Given the description of an element on the screen output the (x, y) to click on. 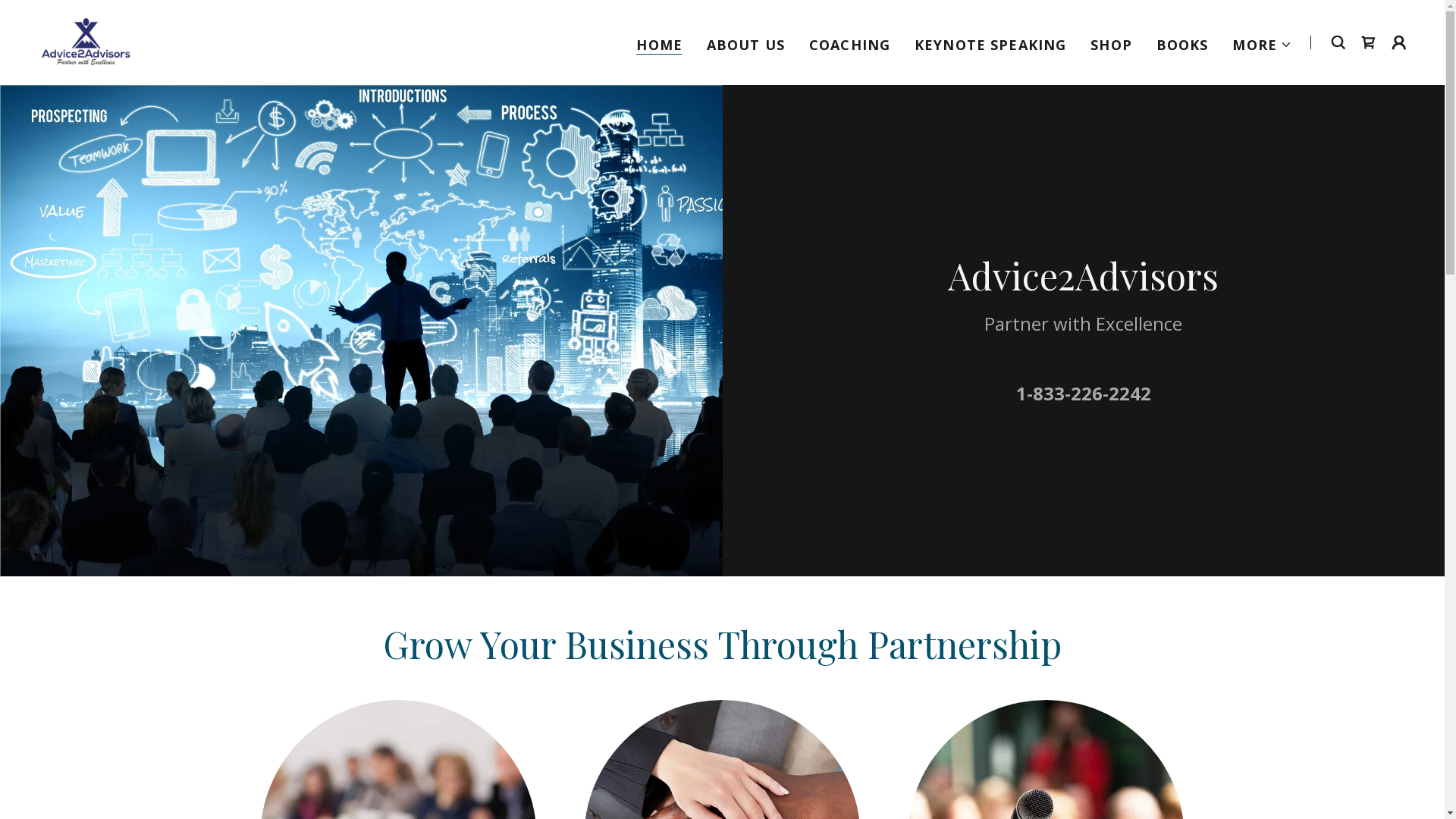
KEYNOTE SPEAKING Element type: text (990, 43)
COACHING Element type: text (849, 43)
HOME Element type: text (659, 43)
ABOUT US Element type: text (745, 43)
Advice2Advisors Element type: hover (85, 40)
SHOP Element type: text (1110, 43)
MORE Element type: text (1262, 43)
BOOKS Element type: text (1182, 43)
1-833-226-2242 Element type: text (1083, 392)
